Given the description of an element on the screen output the (x, y) to click on. 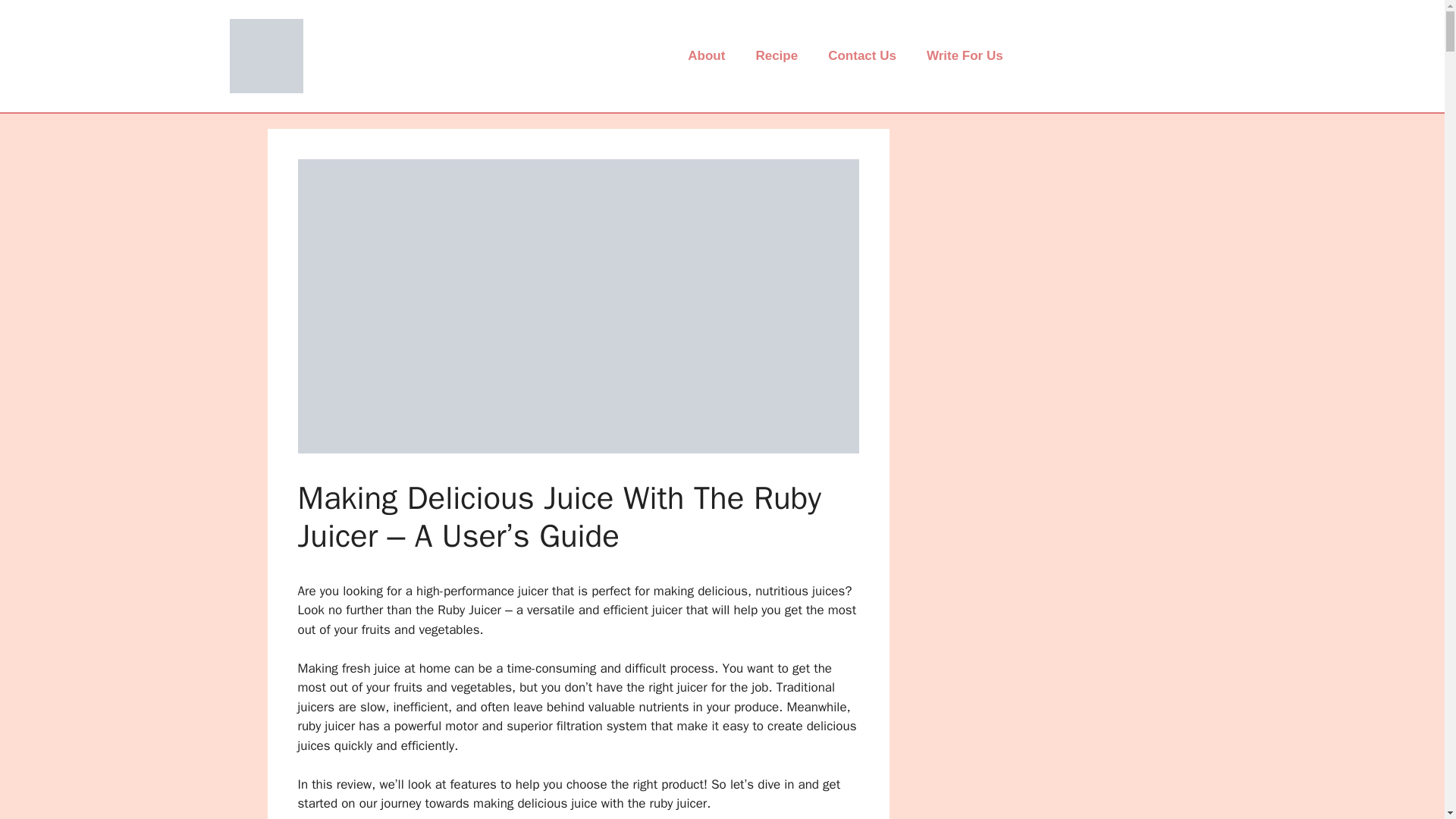
Recipe (775, 55)
Contact Us (861, 55)
About (705, 55)
Write For Us (964, 55)
